Given the description of an element on the screen output the (x, y) to click on. 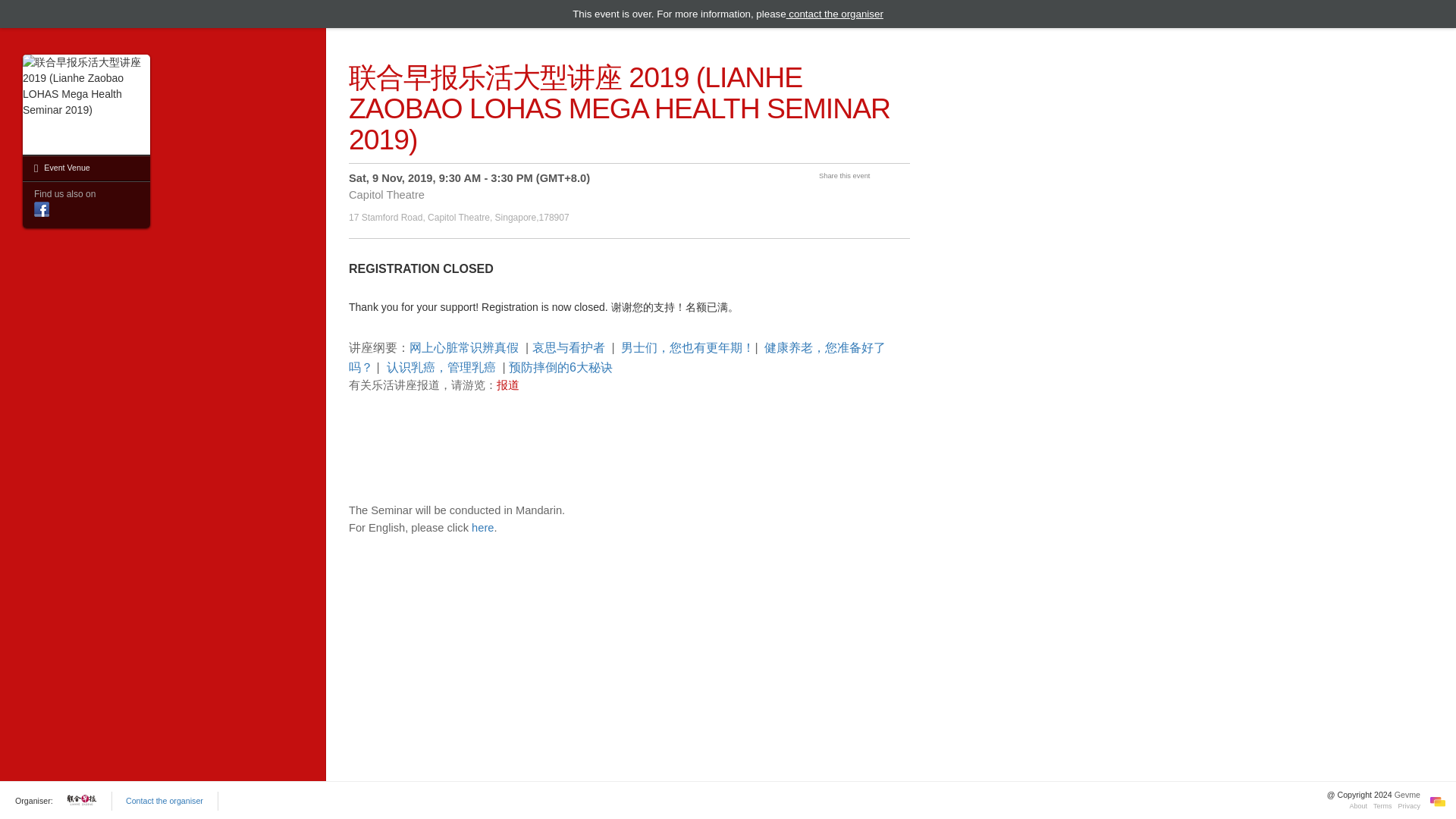
Terms (1382, 805)
Gevme (1407, 794)
GEVME (1437, 801)
facebook (41, 209)
Contact the organiser (164, 800)
Event Venue (86, 168)
About (1358, 805)
here (482, 527)
Facebook (41, 207)
Privacy (1409, 805)
contact the organiser (834, 13)
